Given the description of an element on the screen output the (x, y) to click on. 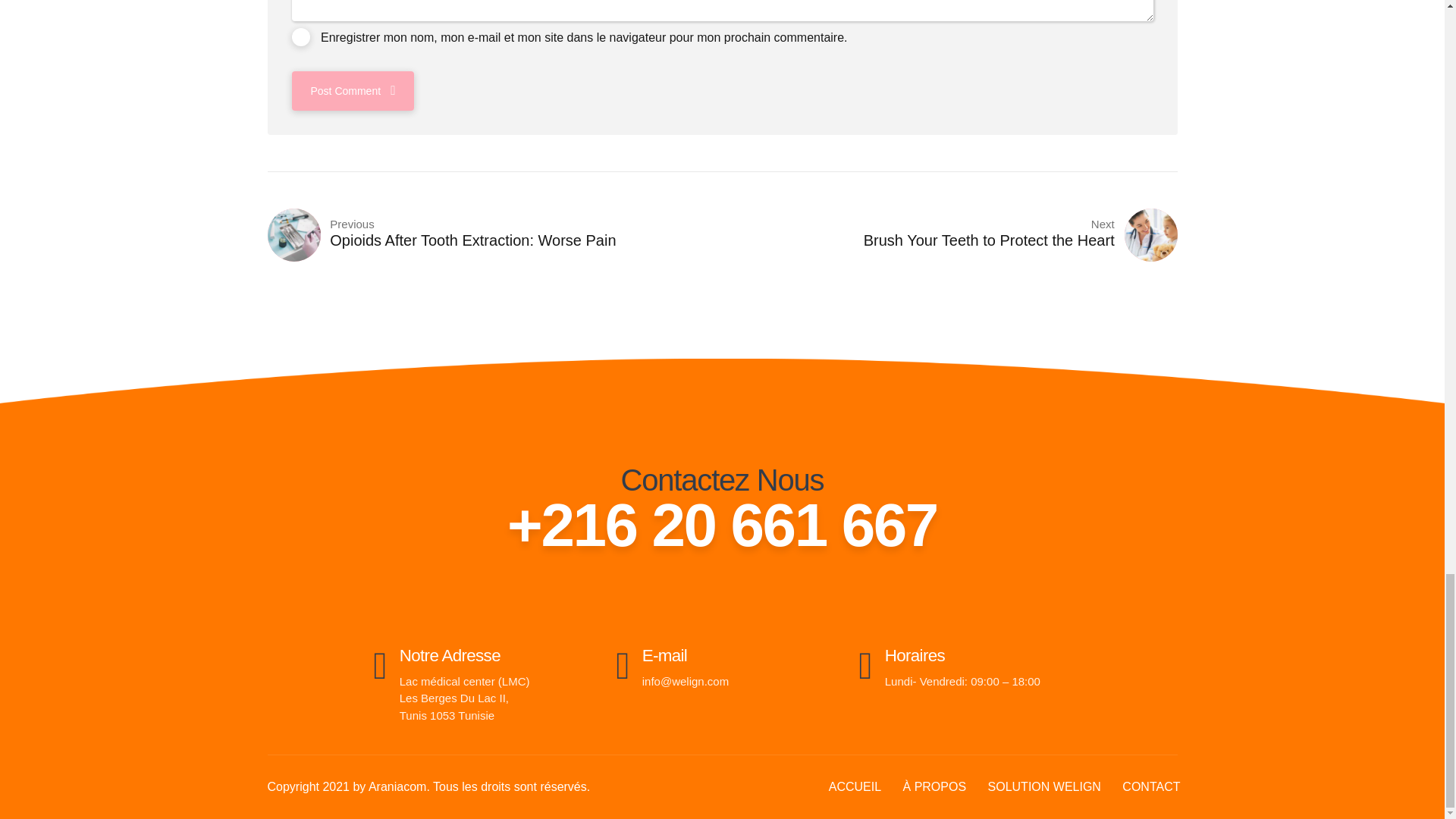
yes (299, 36)
CONTACT (1150, 786)
Post Comment (352, 90)
ACCUEIL (854, 786)
Araniacom (494, 234)
SOLUTION WELIGN (949, 234)
